Given the description of an element on the screen output the (x, y) to click on. 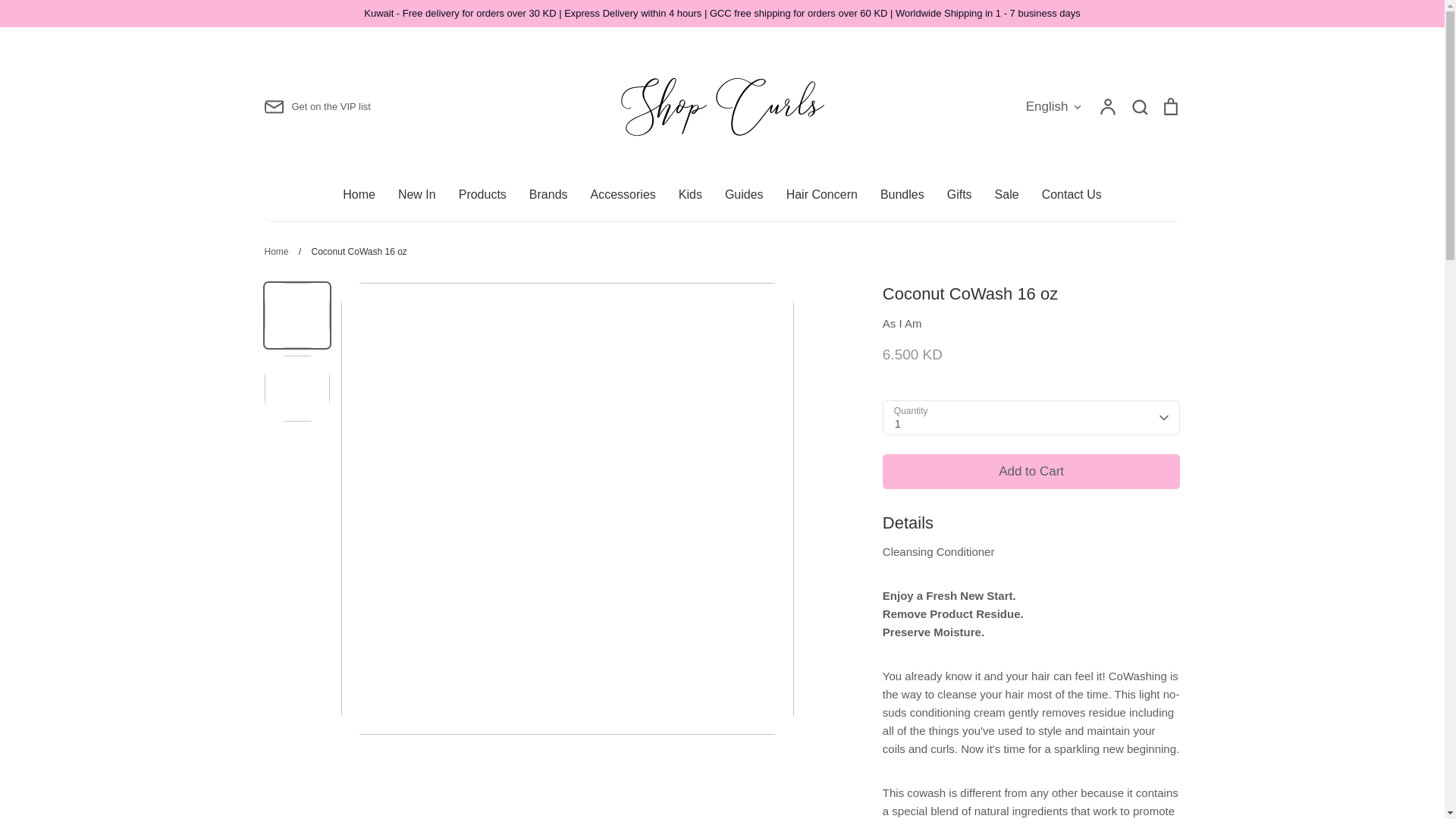
English (1054, 107)
Home (358, 194)
Products (482, 194)
Cart (1169, 105)
New In (416, 194)
Account (1107, 105)
Search (1139, 105)
Get on the VIP list (316, 107)
